Given the description of an element on the screen output the (x, y) to click on. 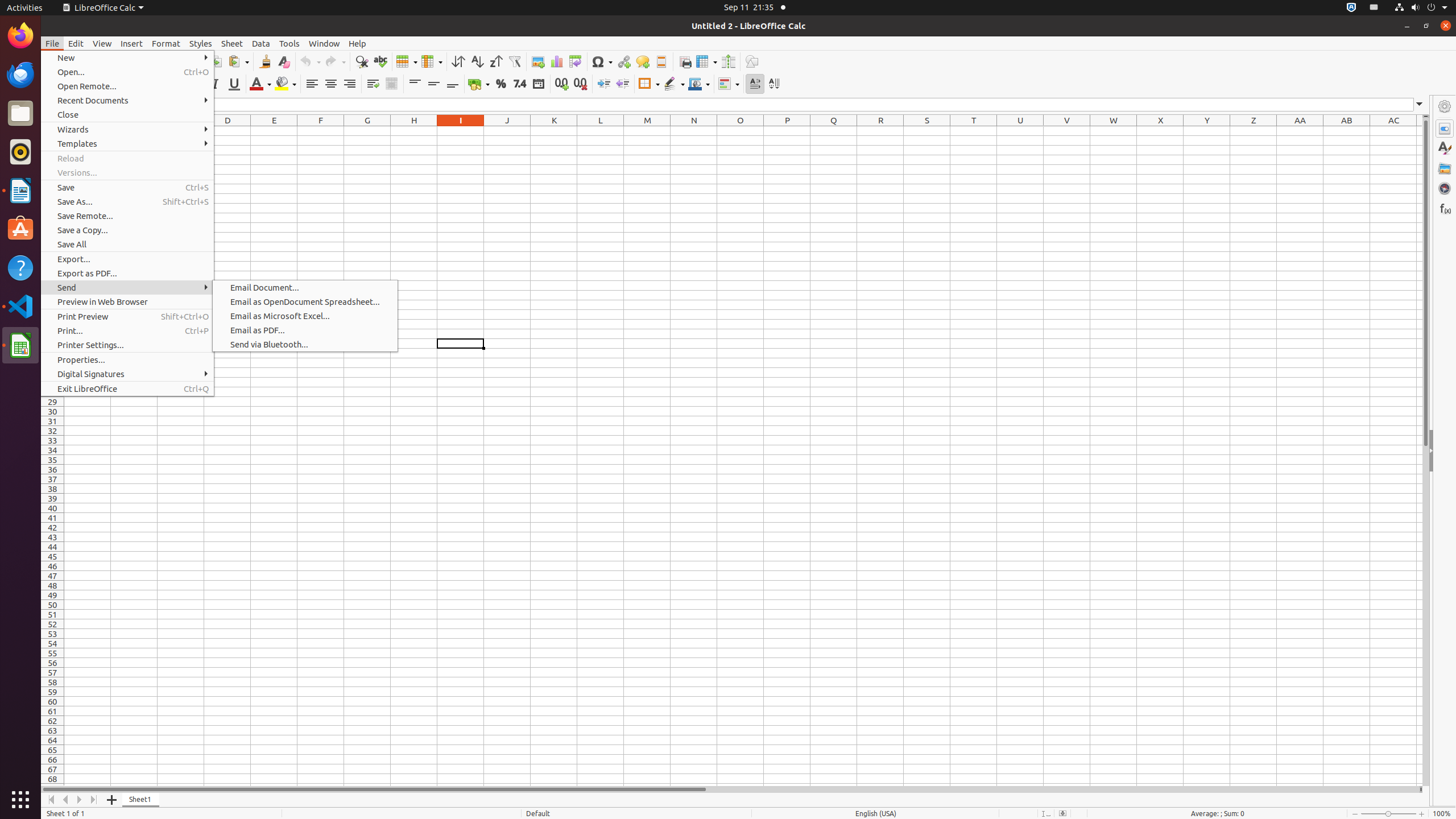
Format Element type: menu (165, 43)
AB1 Element type: table-cell (1346, 130)
Exit LibreOffice Element type: menu-item (126, 388)
Border Style Element type: push-button (673, 83)
Functions Element type: radio-button (1444, 208)
